Given the description of an element on the screen output the (x, y) to click on. 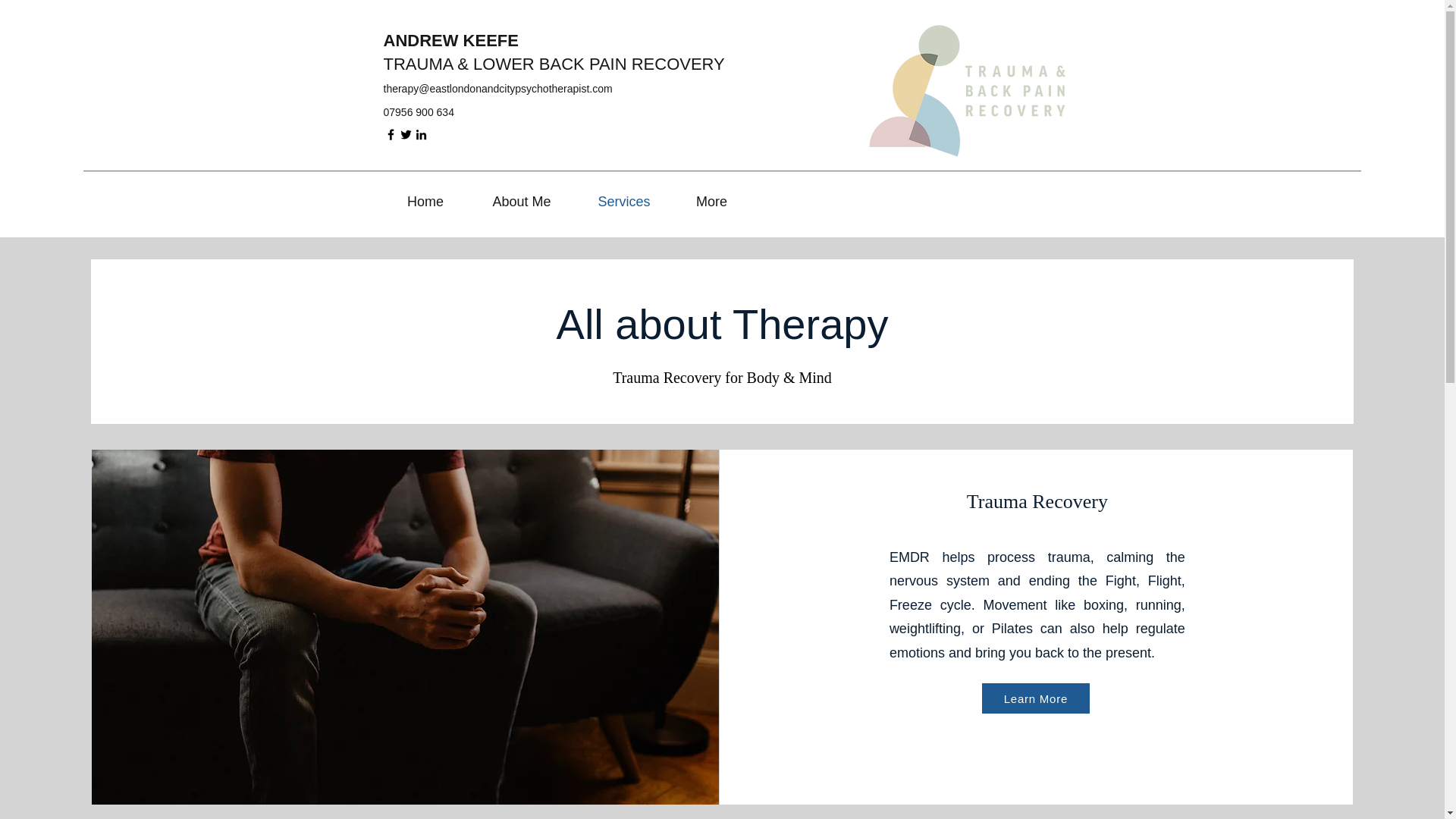
07956 900 634 (419, 111)
About Me (521, 201)
Services (624, 201)
Learn More (1035, 698)
ANDREW KEEFE (451, 40)
Home (425, 201)
